Given the description of an element on the screen output the (x, y) to click on. 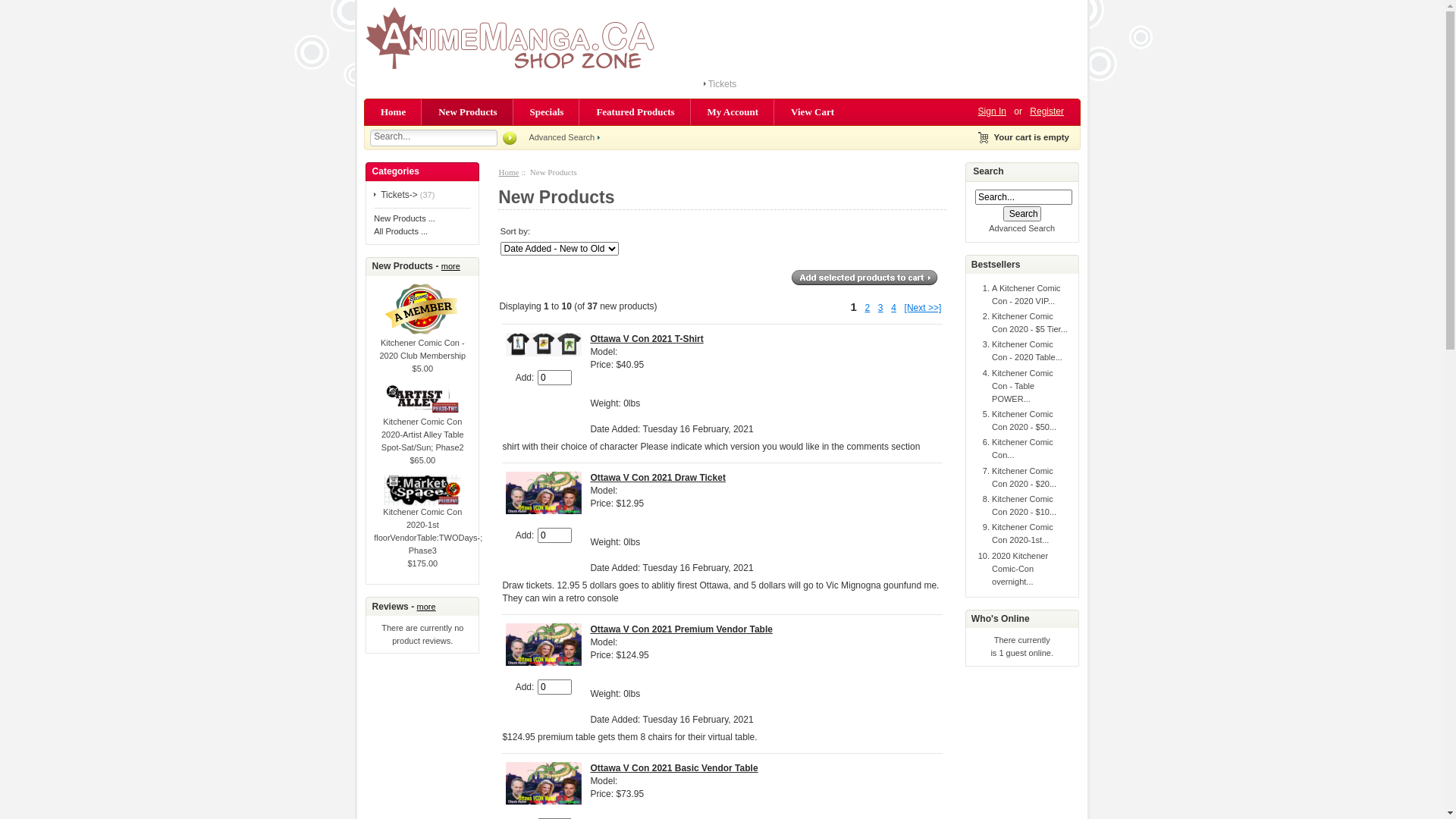
Home Element type: text (508, 171)
2020 Kitchener Comic-Con overnight... Element type: text (1019, 568)
4 Element type: text (893, 307)
Advanced Search Element type: text (1021, 227)
 Ottawa V Con 2021 Premium Vendor Table  Element type: hover (543, 644)
New Products ... Element type: text (404, 217)
Kitchener Comic Con - 2020 Table... Element type: text (1026, 350)
[Next >>] Element type: text (923, 307)
Tickets Element type: text (722, 83)
Featured Products Element type: text (635, 111)
Home Element type: text (392, 111)
 Ottawa V Con 2021 T-Shirt  Element type: hover (543, 344)
2 Element type: text (866, 307)
Specials Element type: text (547, 111)
New Products Element type: text (467, 111)
Kitchener Comic Con 2020 - $10... Element type: text (1023, 505)
Sign In Element type: text (991, 111)
My Account Element type: text (733, 111)
Ottawa V Con 2021 T-Shirt Element type: text (645, 338)
 Ottawa V Con 2021 Draw Ticket  Element type: hover (543, 492)
Ottawa V Con 2021 Basic Vendor Table Element type: text (673, 767)
 Kitchener Comic Con - 2020 Club Membership  Element type: hover (422, 308)
3 Element type: text (880, 307)
 Ottawa V Con 2021 Basic Vendor Table  Element type: hover (543, 783)
Kitchener Comic Con 2020-1st... Element type: text (1022, 533)
A Kitchener Comic Con - 2020 VIP... Element type: text (1025, 294)
Kitchener Comic Con 2020 - $20... Element type: text (1023, 477)
 Add Selected Products to Cart  Element type: hover (864, 277)
Ottawa V Con 2021 Draw Ticket Element type: text (657, 477)
 Designed by 12leaves.com - ecommerce webdesign services  Element type: hover (517, 37)
Kitchener Comic Con - 2020 Club Membership Element type: text (422, 344)
Register Element type: text (1046, 111)
Kitchener Comic Con... Element type: text (1022, 448)
Kitchener Comic Con 2020 - $5 Tier... Element type: text (1029, 322)
more Element type: text (450, 265)
Kitchener Comic Con - Table POWER... Element type: text (1022, 385)
View Cart Element type: text (813, 111)
more Element type: text (426, 606)
Kitchener Comic Con 2020 - $50... Element type: text (1023, 420)
Advanced Search Element type: text (563, 136)
Tickets-> Element type: text (395, 194)
Search Element type: text (1022, 213)
Ottawa V Con 2021 Premium Vendor Table Element type: text (680, 629)
All Products ... Element type: text (400, 230)
